Given the description of an element on the screen output the (x, y) to click on. 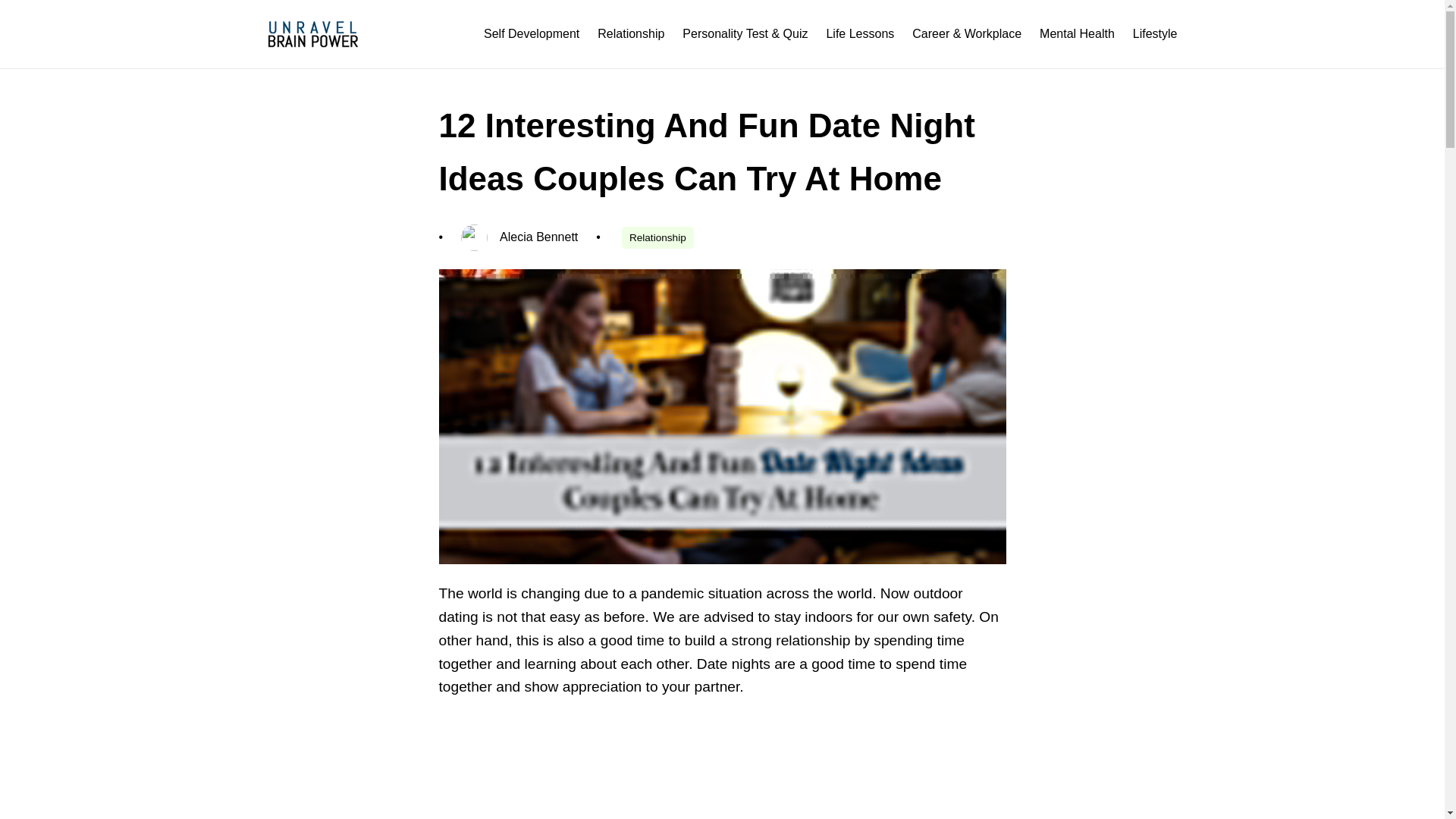
Relationship (629, 33)
Lifestyle (1154, 33)
Relationship (657, 237)
Mental Health (1077, 33)
Life Lessons (859, 33)
Self Development (531, 33)
